Given the description of an element on the screen output the (x, y) to click on. 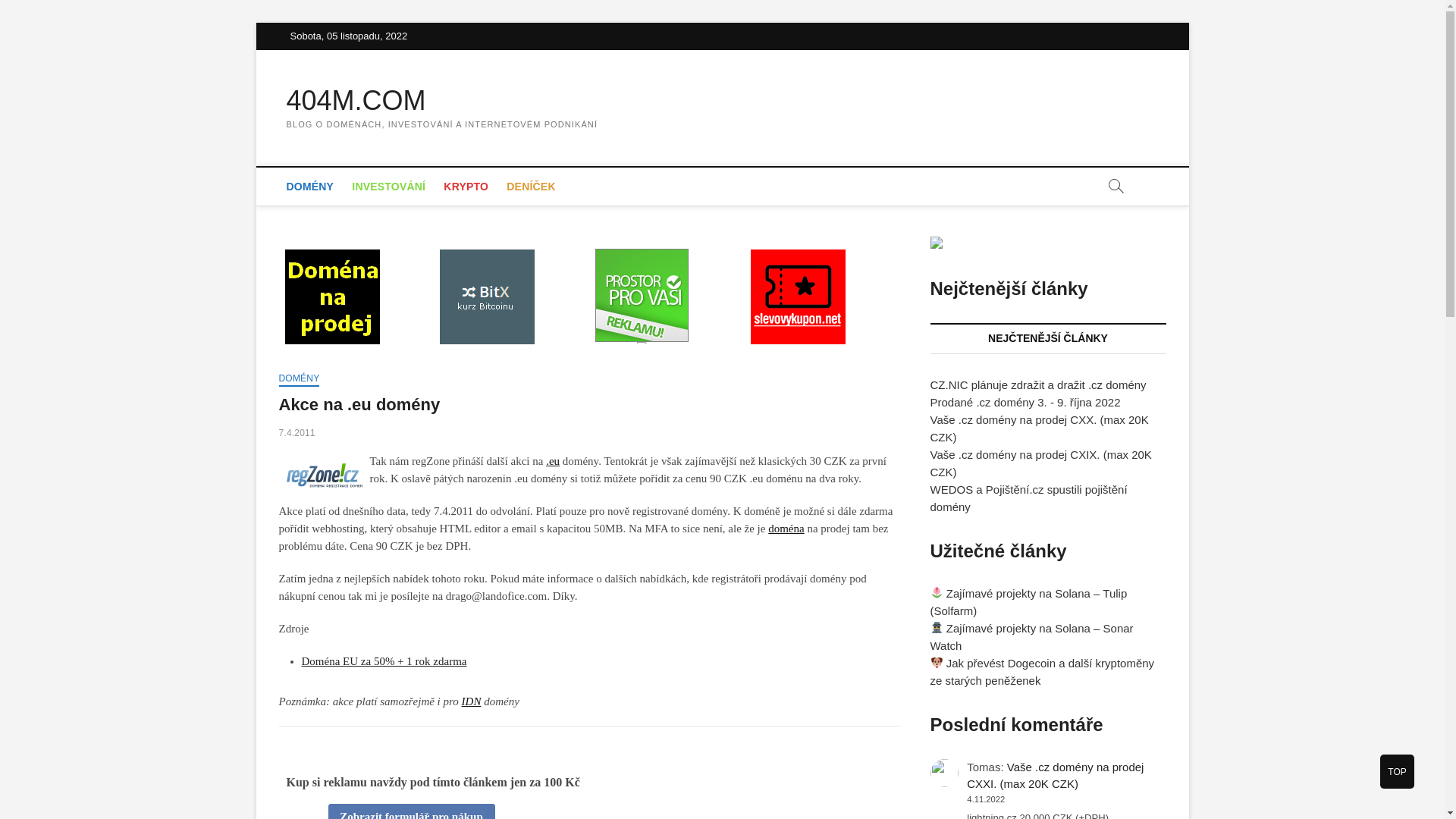
Skip to content Element type: text (254, 21)
KRYPTO Element type: text (465, 186)
7.4.2011 Element type: text (297, 432)
IDN Element type: text (471, 701)
404M.COM Element type: text (442, 100)
.eu Element type: text (552, 461)
regzone_logo Element type: hover (324, 475)
  Element type: text (641, 295)
TOP Element type: text (1397, 771)
